Given the description of an element on the screen output the (x, y) to click on. 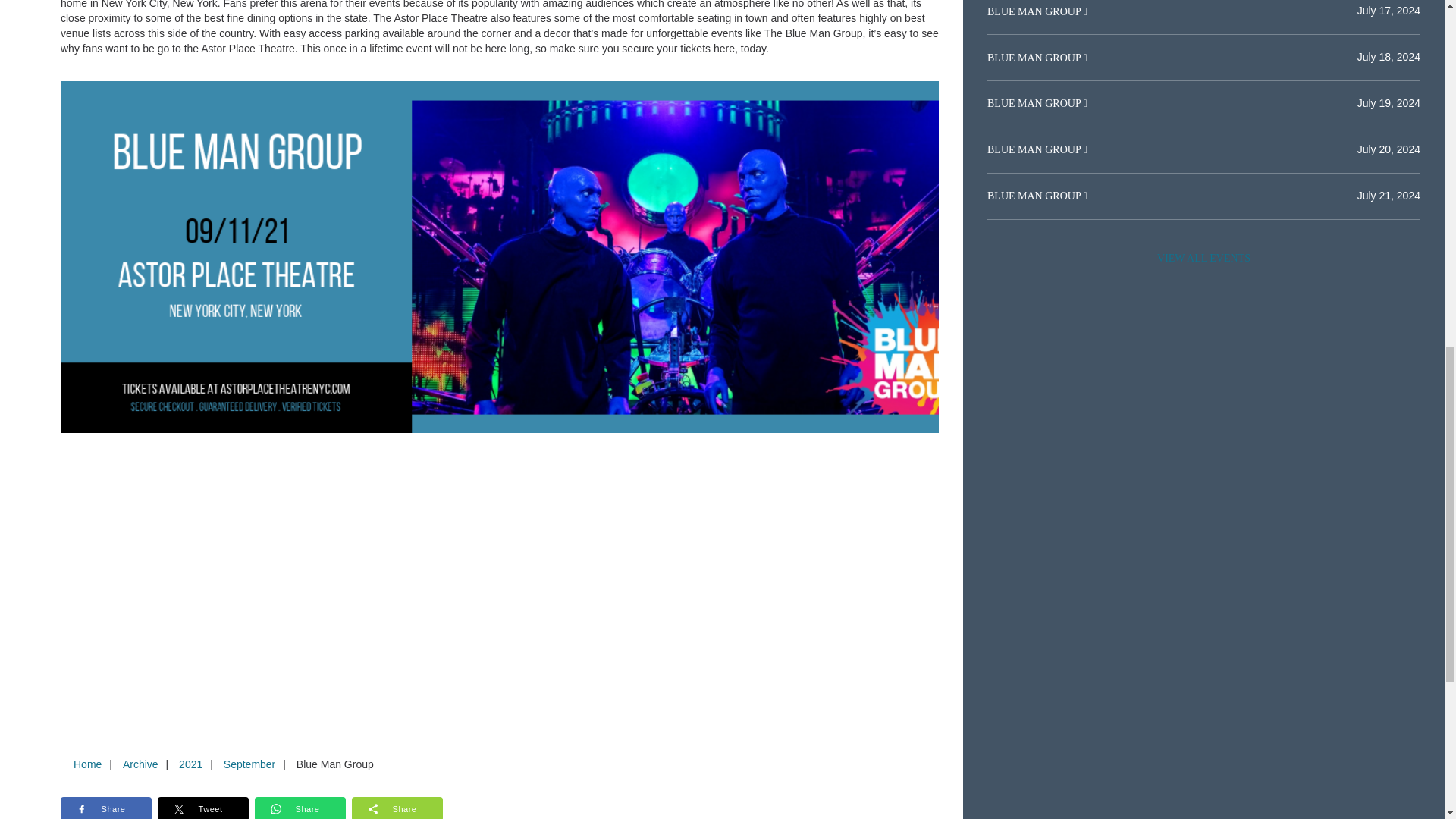
September (248, 764)
VIEW ALL EVENTS (1203, 258)
Home (87, 764)
Archive (140, 764)
2021 (190, 764)
